Given the description of an element on the screen output the (x, y) to click on. 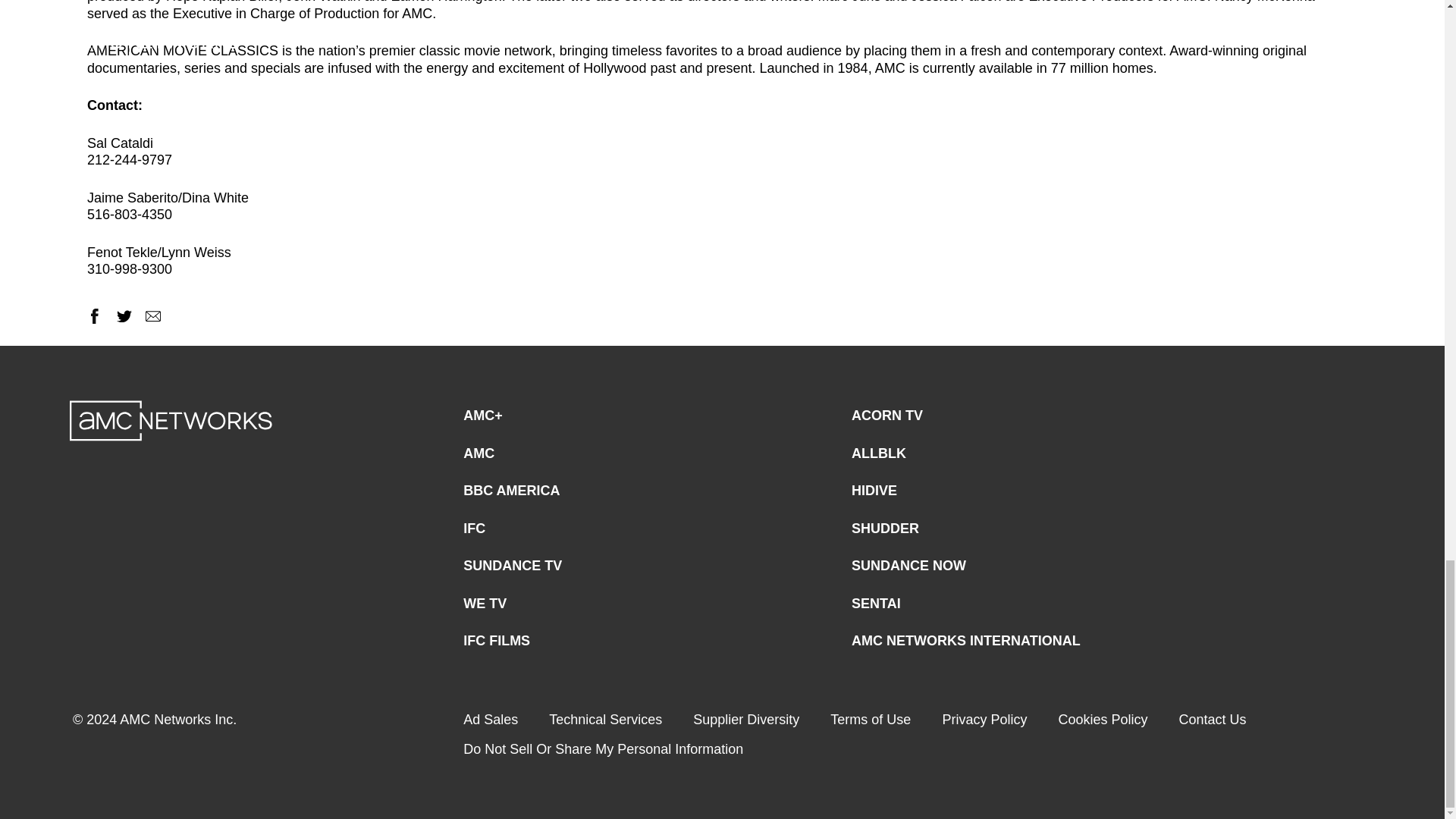
BBC AMERICA (511, 490)
AMC (479, 453)
AMC Networks (170, 420)
WE TV (484, 603)
IFC FILMS (496, 640)
SUNDANCE TV (512, 565)
ALLBLK (878, 453)
ACORN TV (887, 415)
HIDIVE (873, 490)
